Given the description of an element on the screen output the (x, y) to click on. 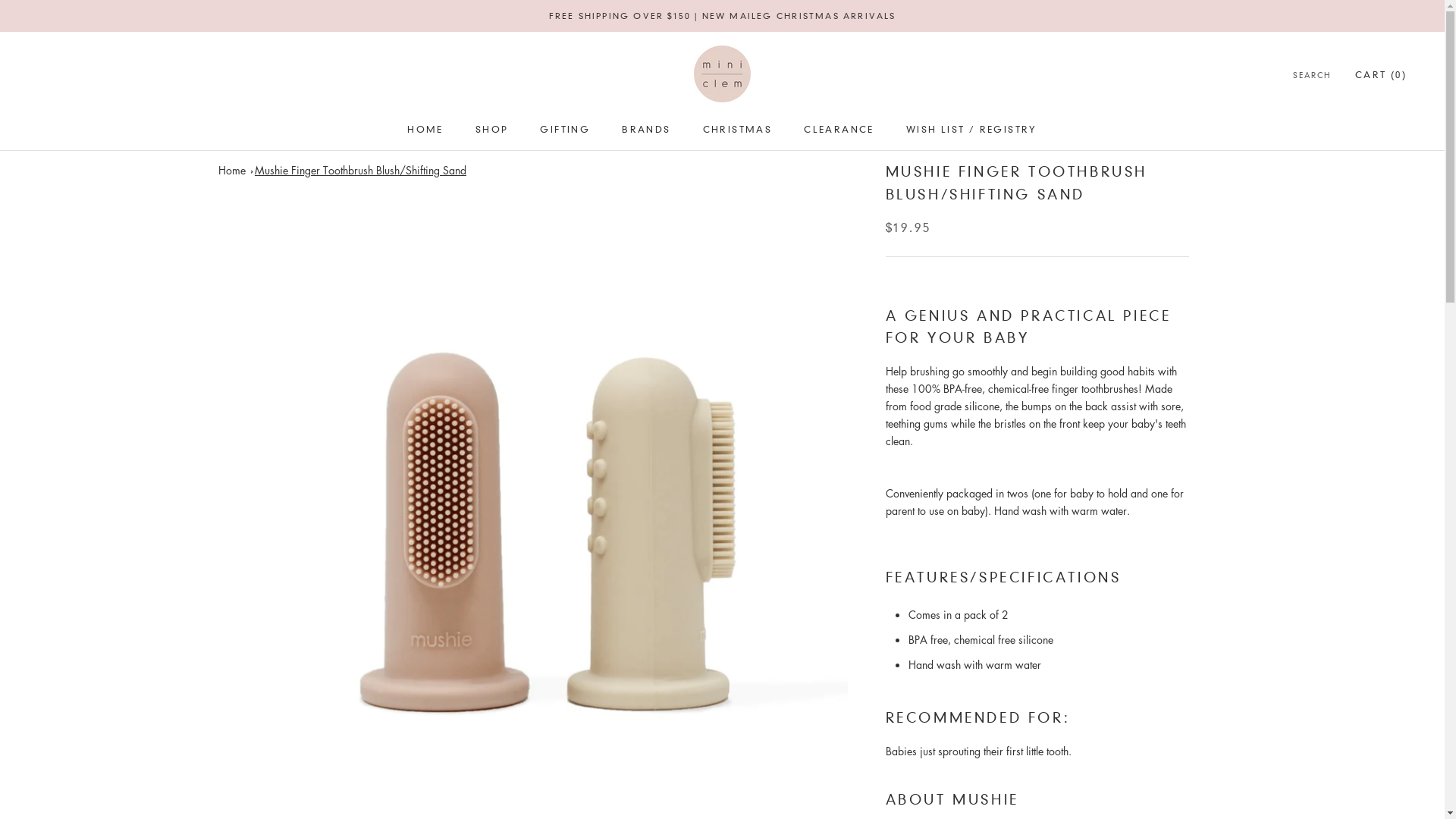
SHOP
SHOP Element type: text (491, 128)
Mushie Finger Toothbrush Blush/Shifting Sand Element type: text (360, 169)
HOME
HOME Element type: text (425, 128)
CHRISTMAS
CHRISTMAS Element type: text (737, 128)
SEARCH Element type: text (1311, 75)
WISH LIST / REGISTRY
WISH LIST / REGISTRY Element type: text (971, 128)
CART (0) Element type: text (1380, 74)
CLEARANCE
CLEARANCE Element type: text (838, 128)
BRANDS
BRANDS Element type: text (645, 128)
Home Element type: text (231, 169)
GIFTING Element type: text (564, 128)
